Given the description of an element on the screen output the (x, y) to click on. 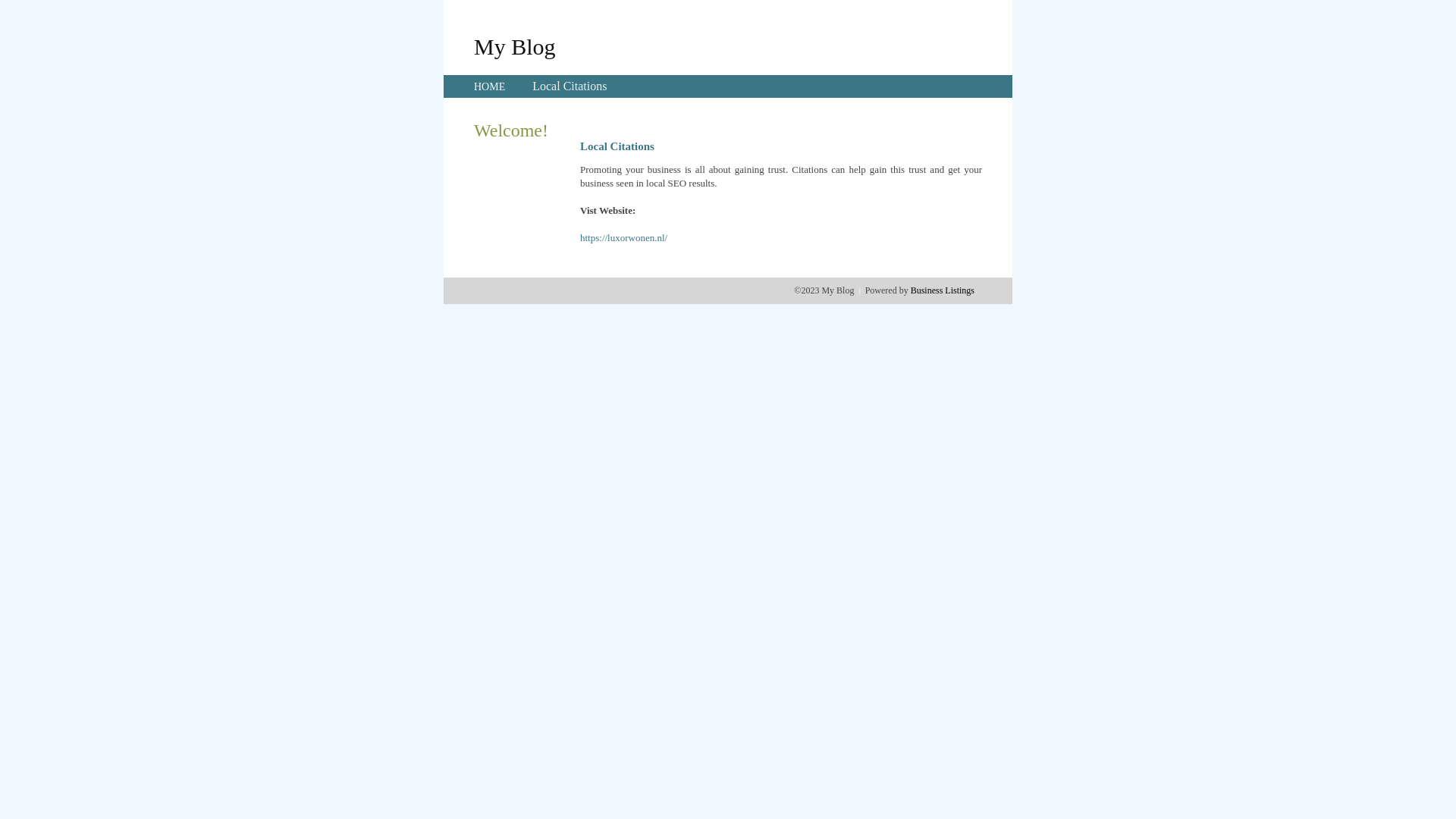
https://luxorwonen.nl/ Element type: text (623, 237)
Local Citations Element type: text (569, 85)
Business Listings Element type: text (942, 290)
HOME Element type: text (489, 86)
My Blog Element type: text (514, 46)
